Given the description of an element on the screen output the (x, y) to click on. 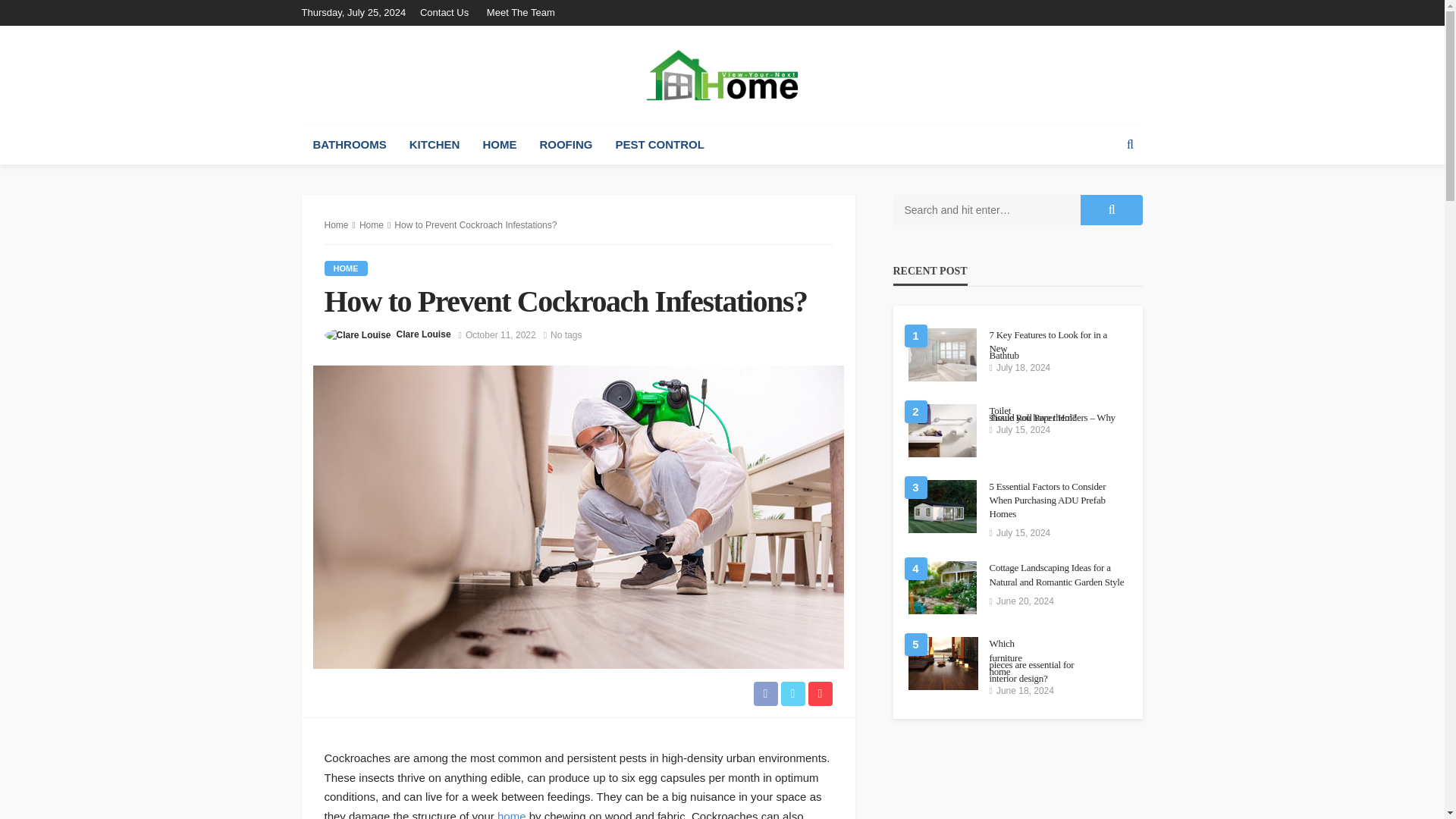
Home (346, 268)
PEST CONTROL (660, 144)
Posts tagged with kitchen (434, 144)
Contact Us (448, 12)
home (511, 814)
Posts tagged with home (498, 144)
Meet The Team (520, 12)
Home (336, 225)
HOME (498, 144)
View Your Next Home (721, 74)
Posts tagged with home (511, 814)
BATHROOMS (349, 144)
Home (371, 225)
Clare Louise (423, 334)
HOME (346, 268)
